Given the description of an element on the screen output the (x, y) to click on. 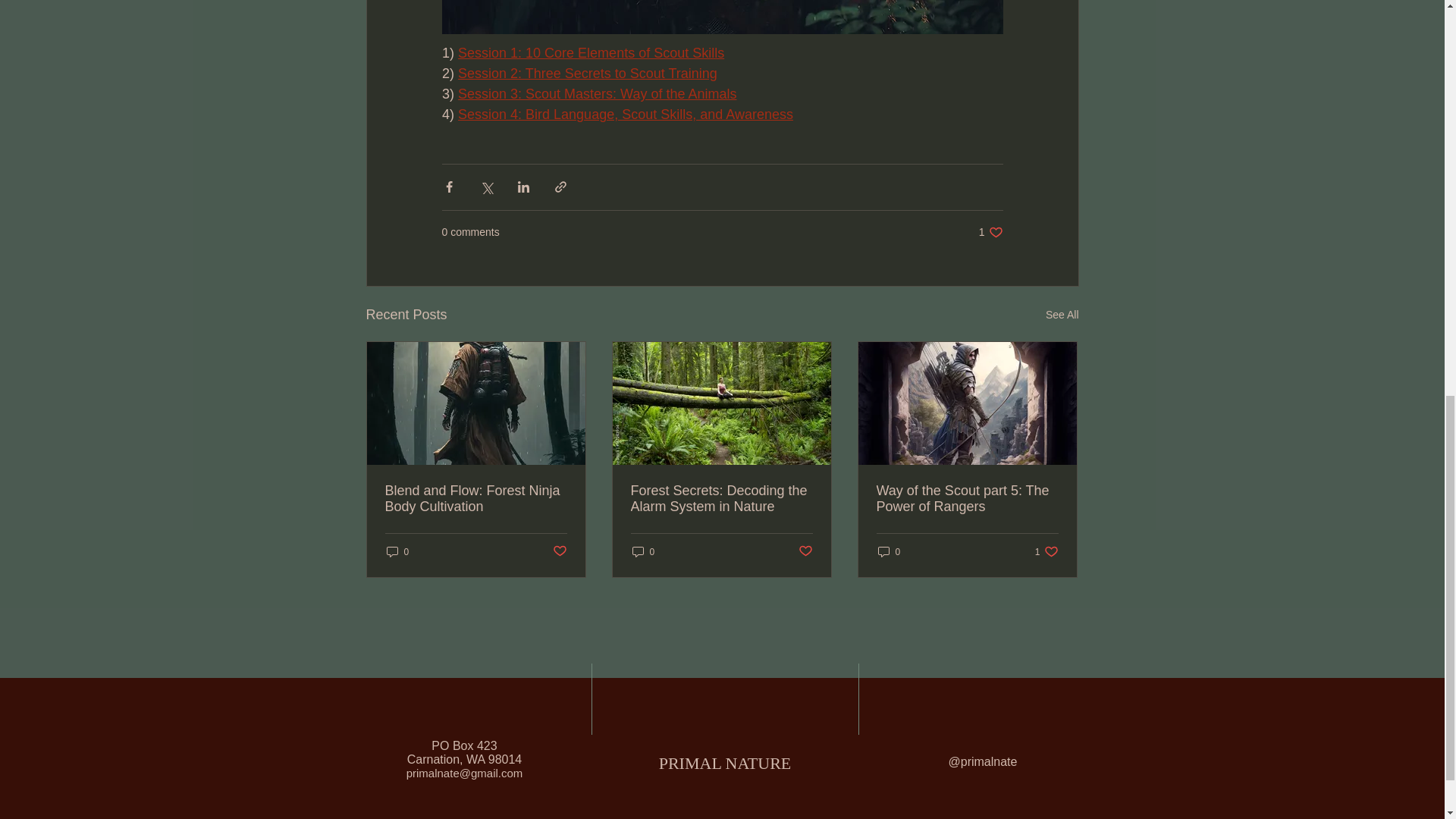
Session 2: Three Secrets to Scout Training (587, 73)
Blend and Flow: Forest Ninja Body Cultivation (476, 499)
Session 1: 10 Core Elements of Scout Skills (590, 53)
See All (990, 232)
Session 4: Bird Language, Scout Skills, and Awareness (1061, 314)
Session 3: Scout Masters: Way of the Animals (625, 114)
